Given the description of an element on the screen output the (x, y) to click on. 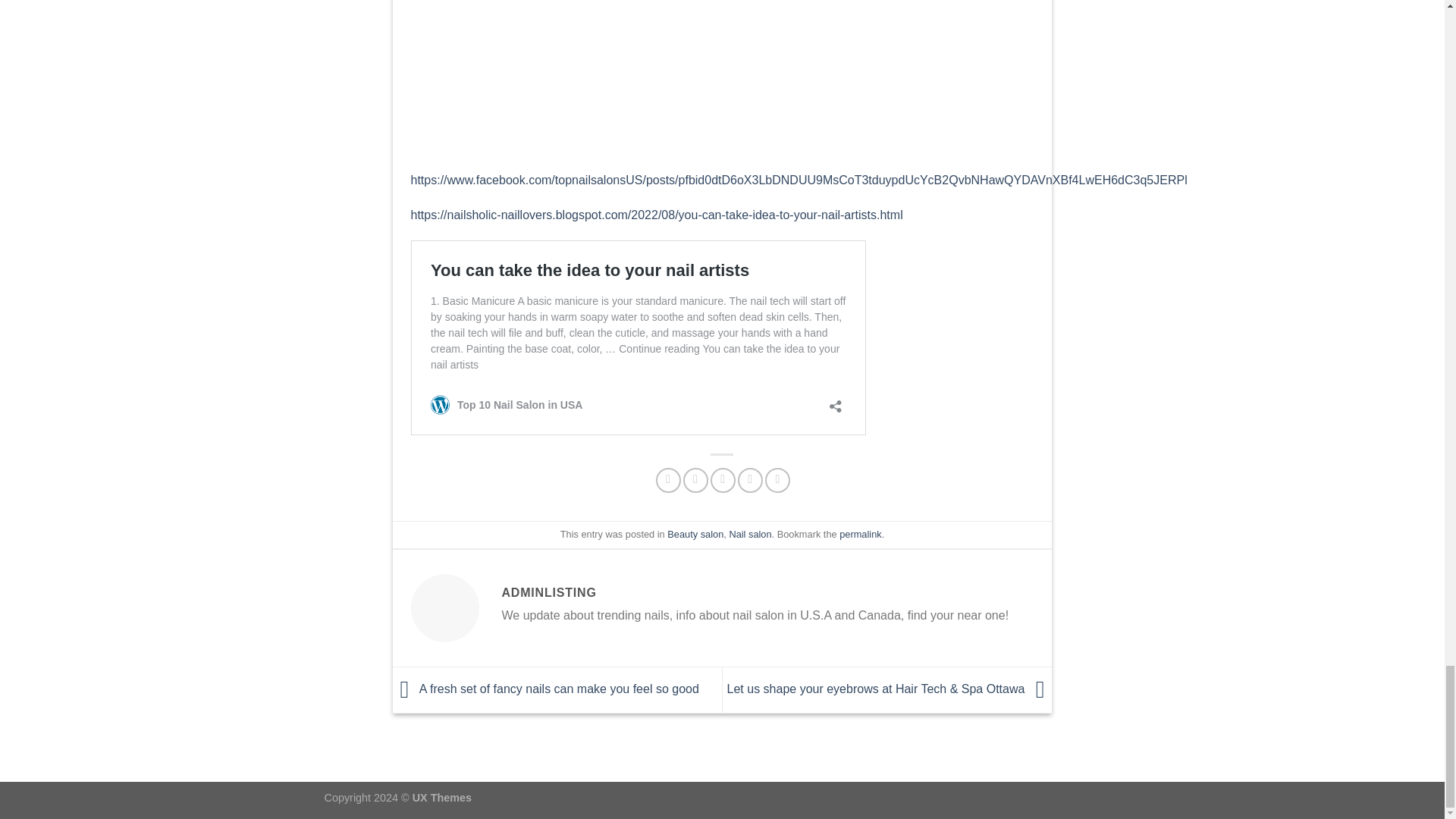
Permalink to You can take the idea to your nail artists (860, 533)
You can take the idea to your nail artists (581, 76)
